Given the description of an element on the screen output the (x, y) to click on. 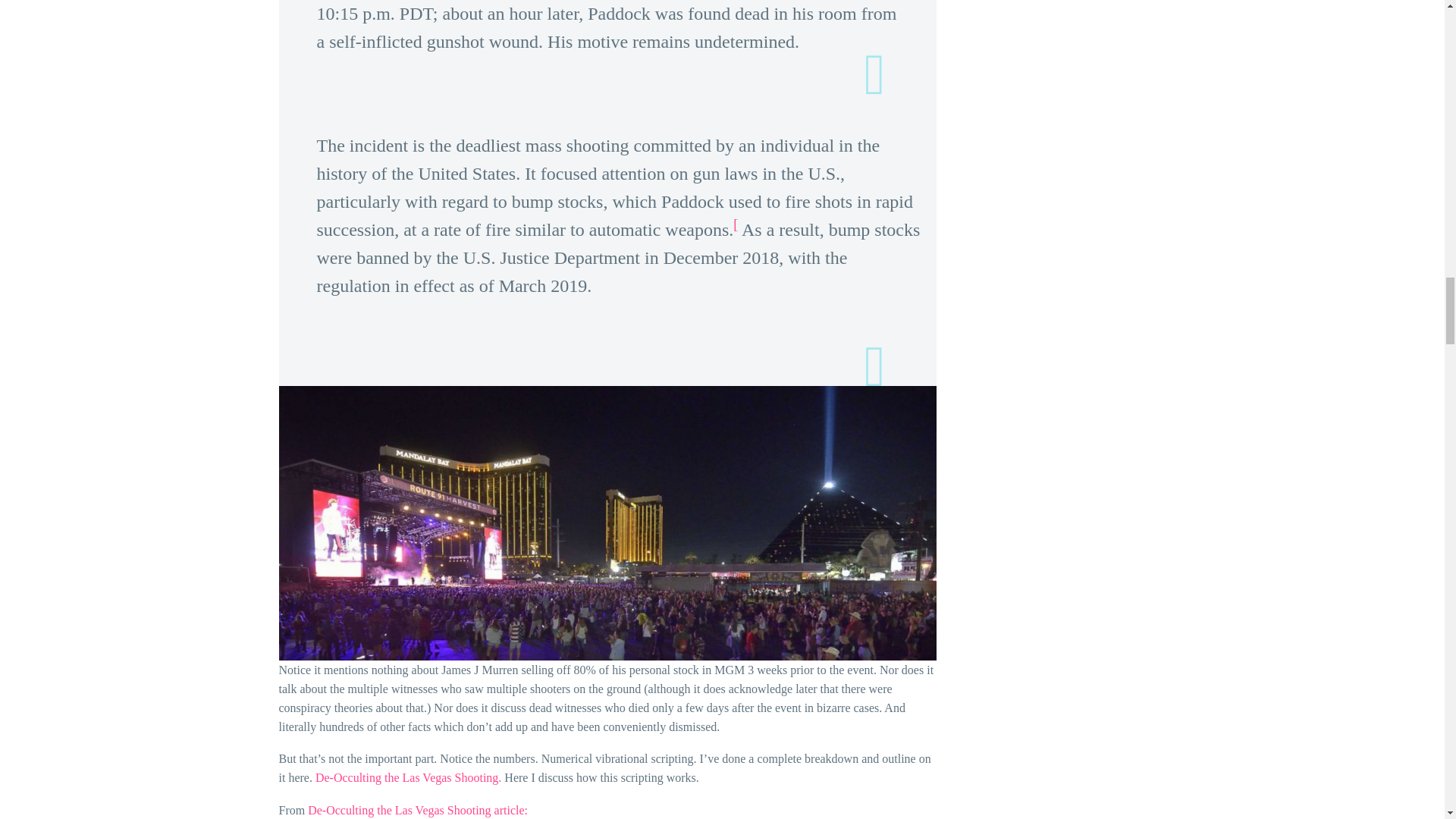
De-Occulting the Las Vegas Shooting. (407, 777)
De-Occulting the Las Vegas Shooting article: (417, 809)
